Given the description of an element on the screen output the (x, y) to click on. 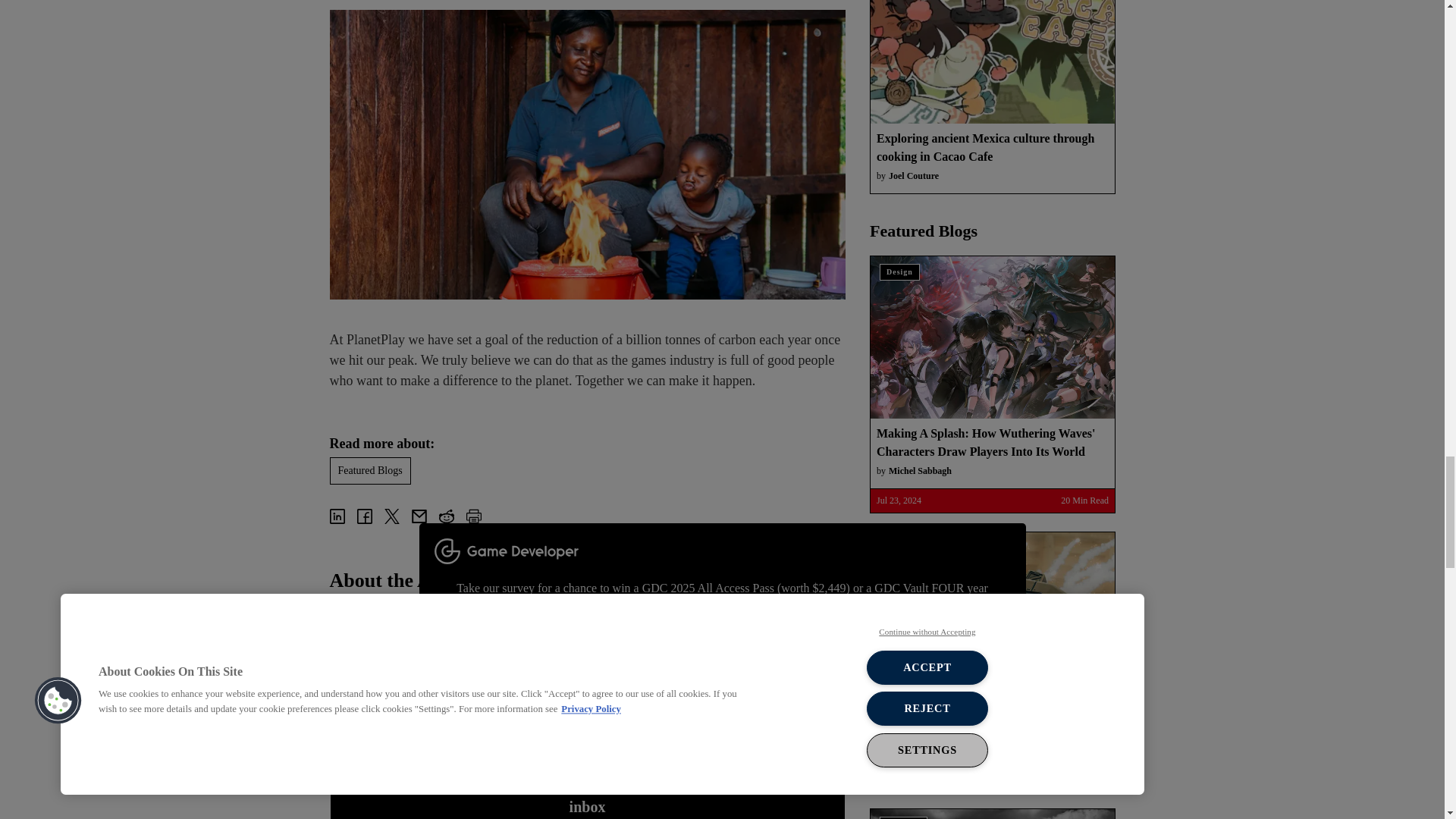
Rhea Loucas (384, 668)
